Given the description of an element on the screen output the (x, y) to click on. 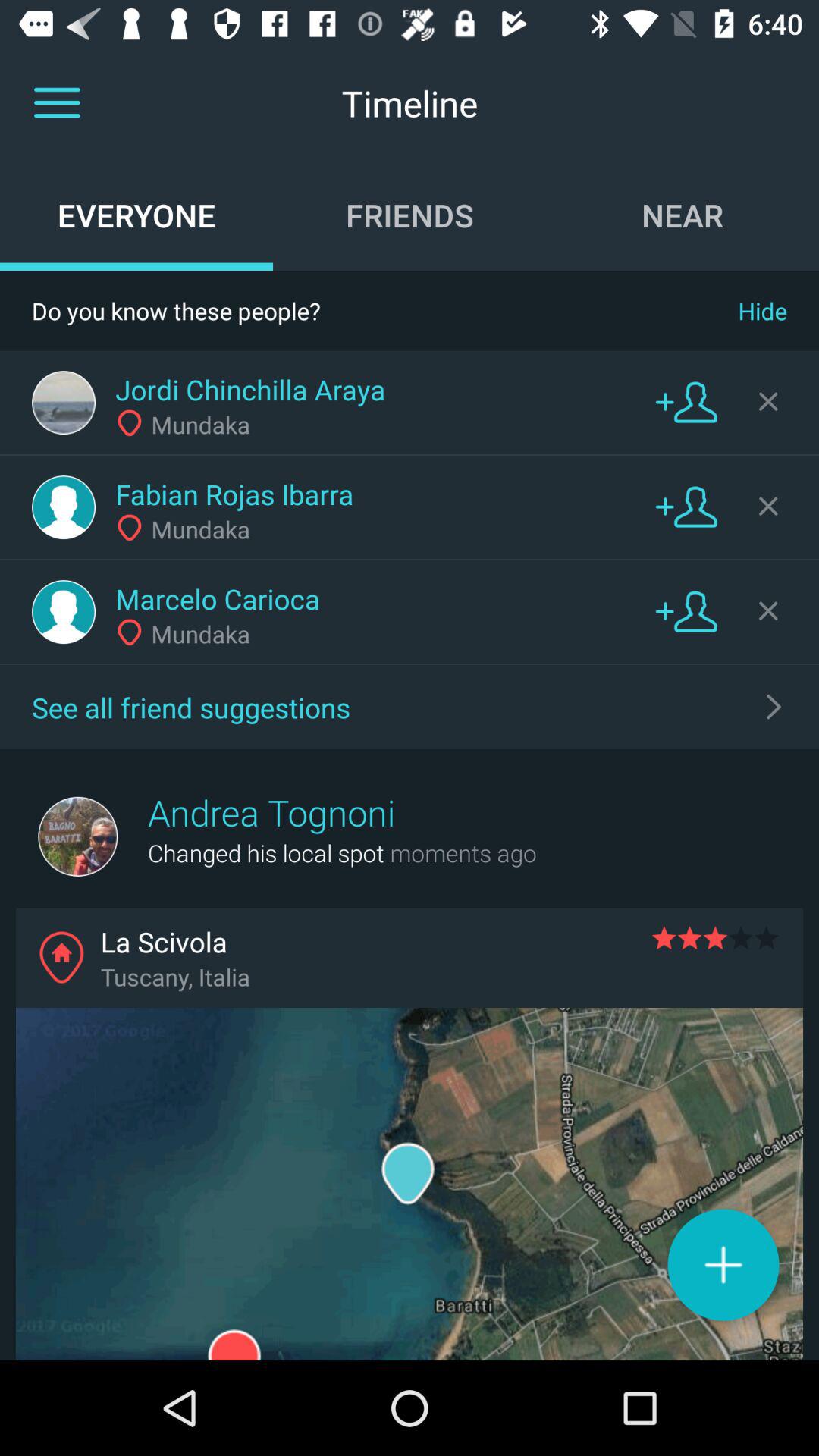
add contact (686, 506)
